Given the description of an element on the screen output the (x, y) to click on. 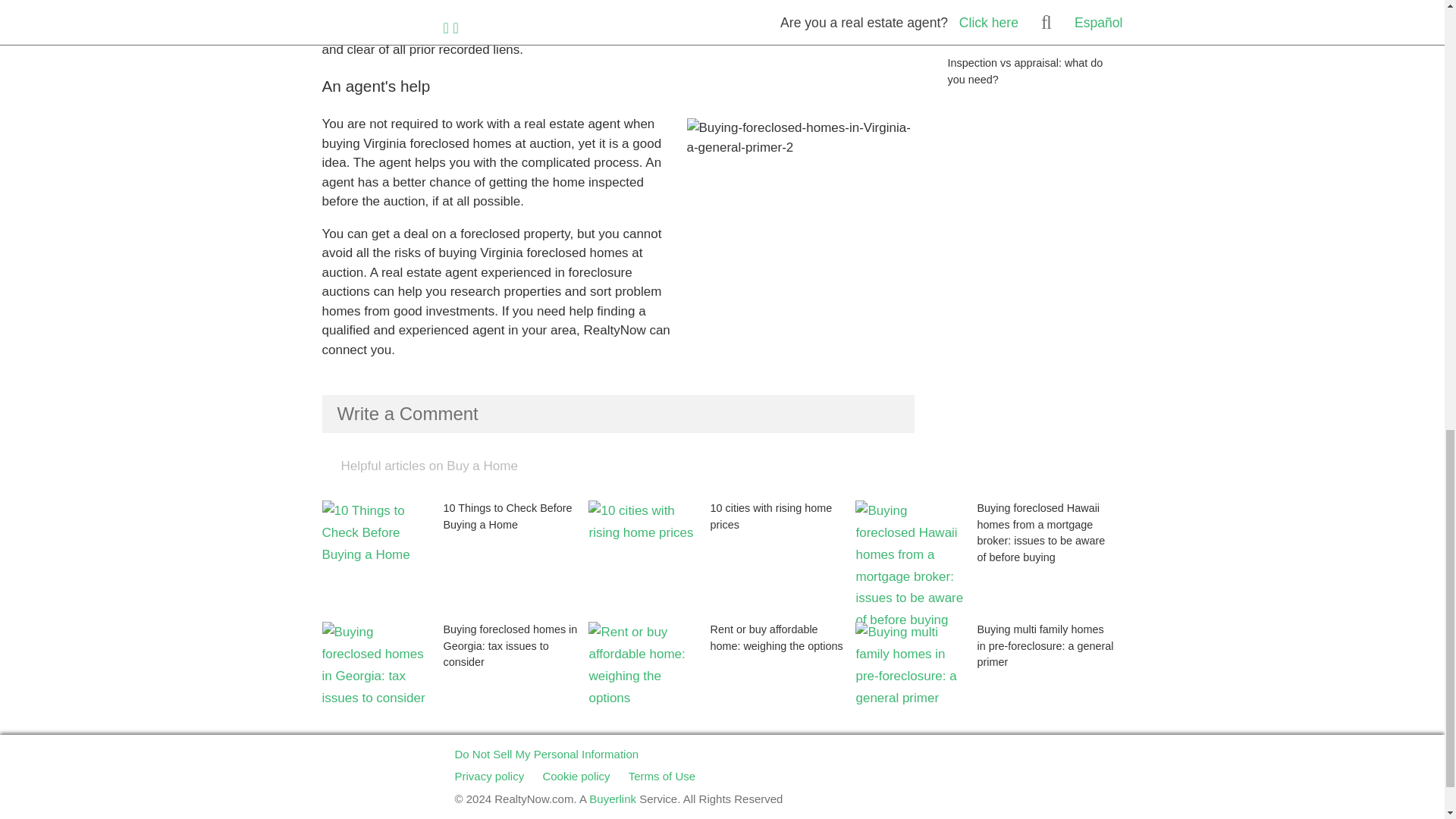
10 Things to Check Before Buying a Home (454, 560)
Rent or buy affordable home: weighing the options (722, 681)
Buying foreclosed homes in Georgia: tax issues to consider (454, 681)
Inspection vs appraisal: what do you need? (1034, 54)
10 cities with rising home prices (722, 560)
